Given the description of an element on the screen output the (x, y) to click on. 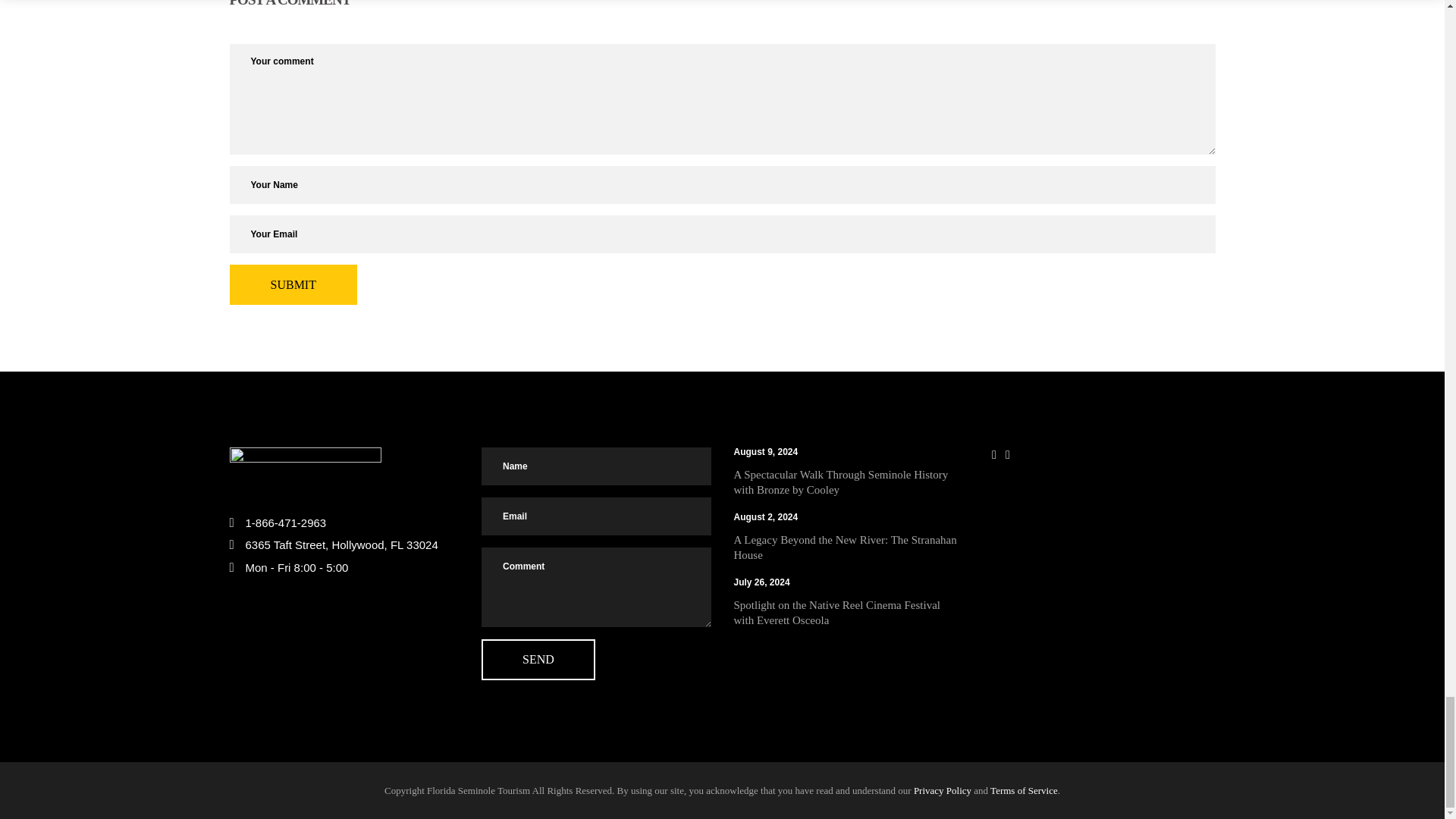
A Legacy Beyond the New River: The Stranahan House (844, 547)
Submit (292, 284)
Send (538, 659)
